Given the description of an element on the screen output the (x, y) to click on. 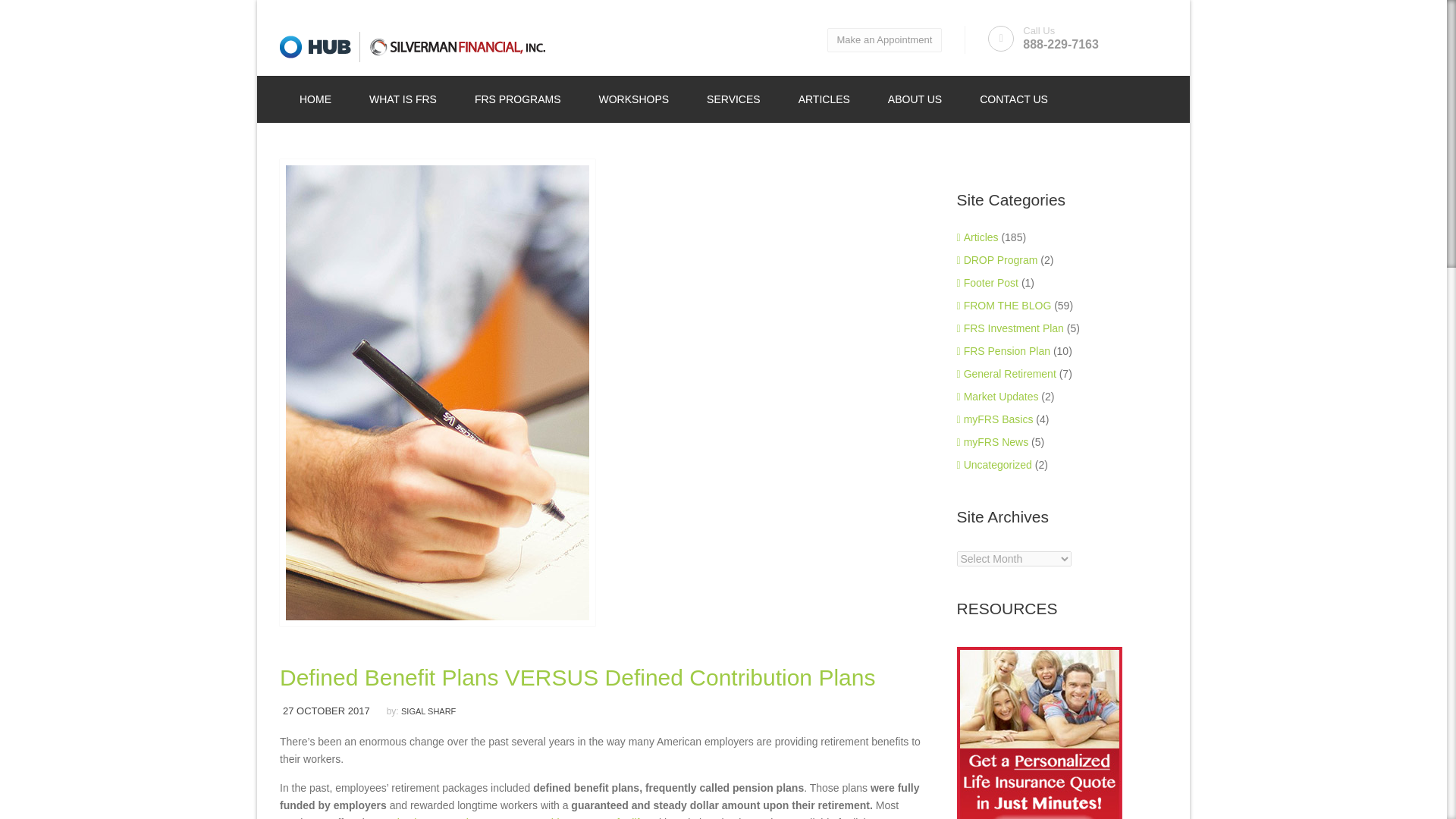
SIGAL SHARF (428, 710)
Articles (977, 236)
CONTACT US (1013, 99)
WORKSHOPS (633, 99)
DROP Program (997, 259)
WHAT IS FRS (402, 99)
FRS PROGRAMS (517, 99)
Footer Post (987, 282)
ABOUT US (914, 99)
